Given the description of an element on the screen output the (x, y) to click on. 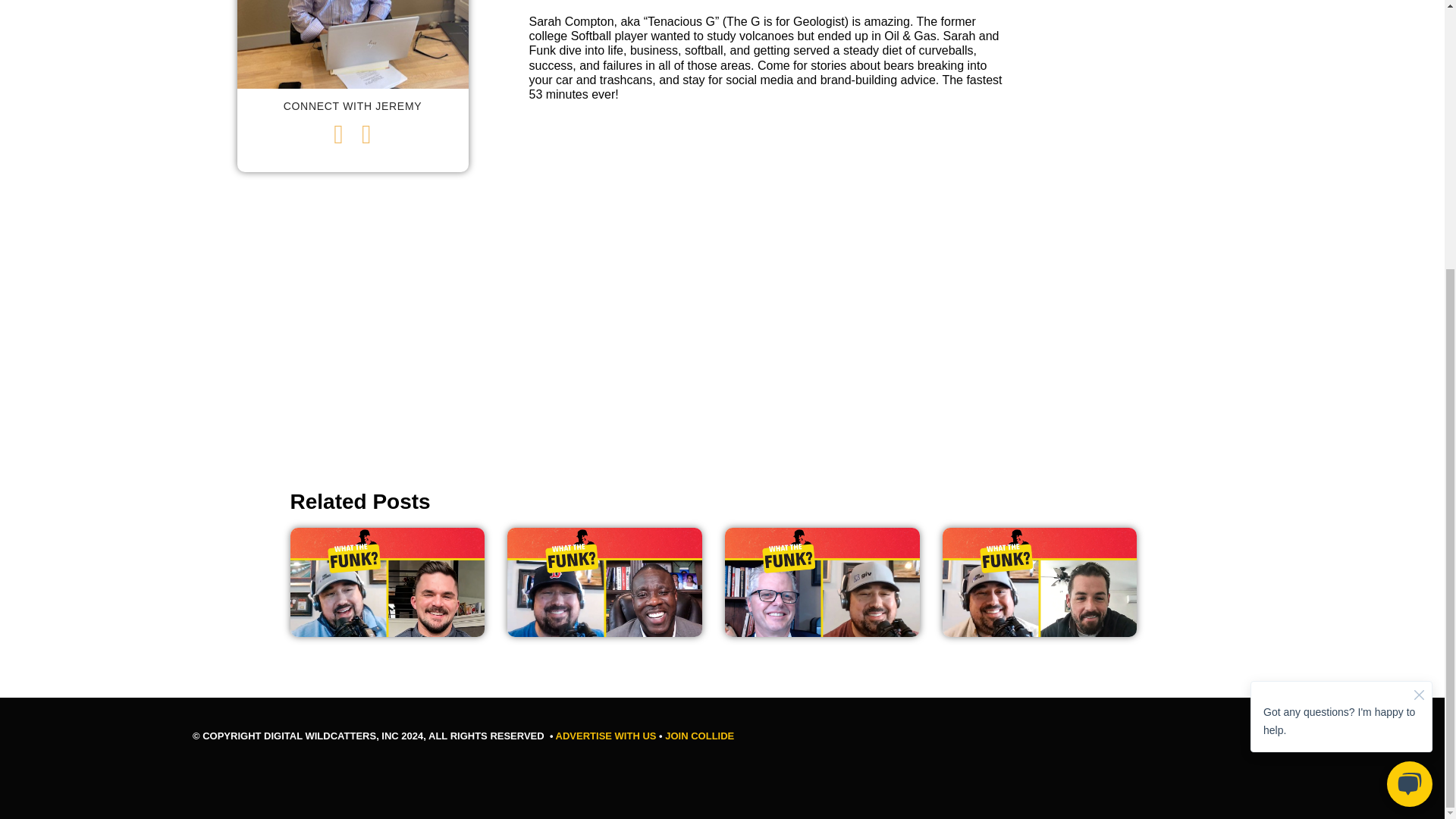
COLLIDE (711, 736)
ADVERTISE WITH US (606, 736)
JOIN (676, 736)
